Given the description of an element on the screen output the (x, y) to click on. 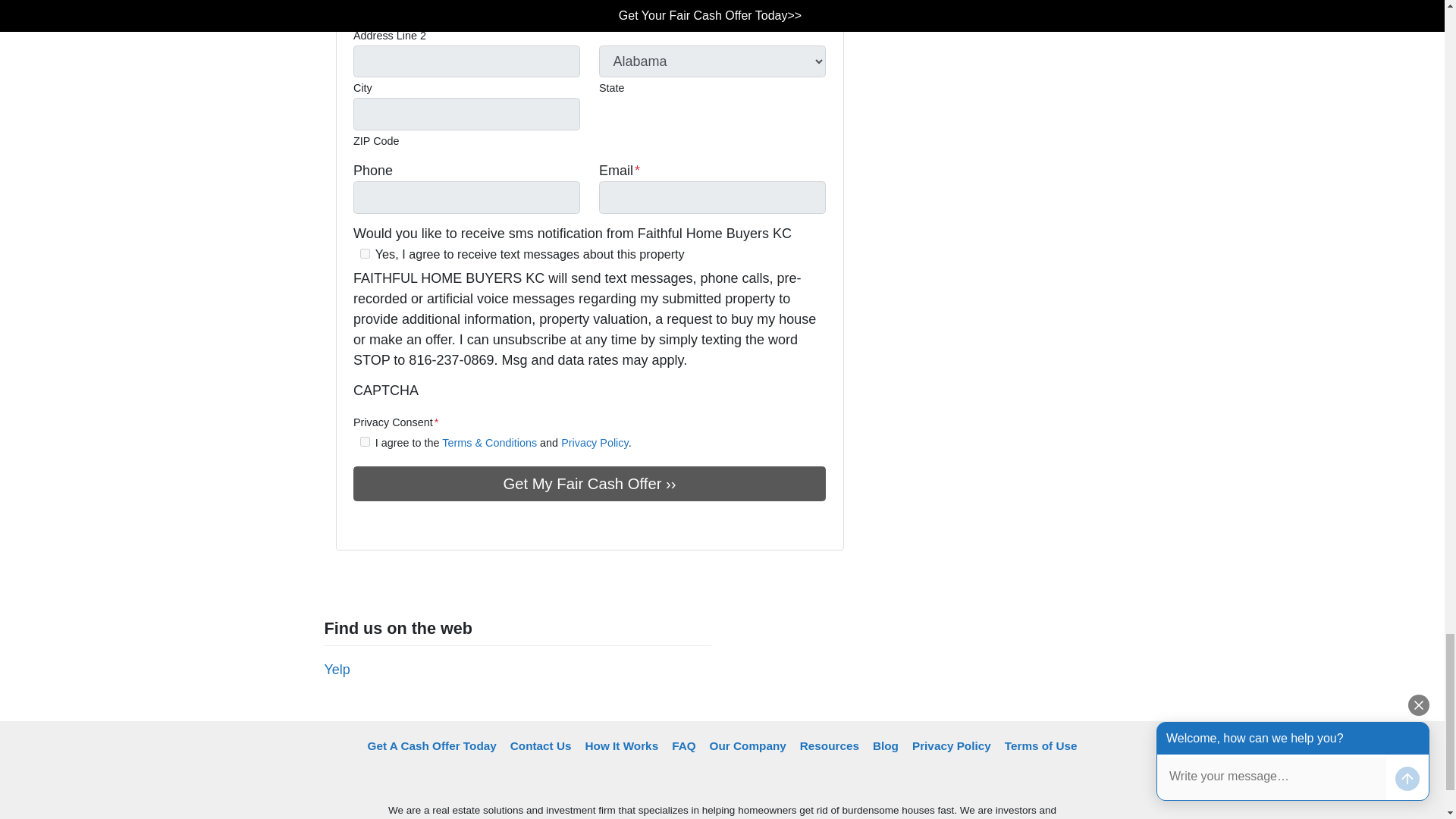
Contact Us (540, 745)
LinkedIn (404, 524)
Privacy Policy (594, 442)
Yes, I agree to receive text messages about this property (364, 253)
Instagram (425, 524)
Yelp (337, 669)
YouTube (383, 524)
Get A Cash Offer Today (432, 745)
Facebook (362, 524)
